Given the description of an element on the screen output the (x, y) to click on. 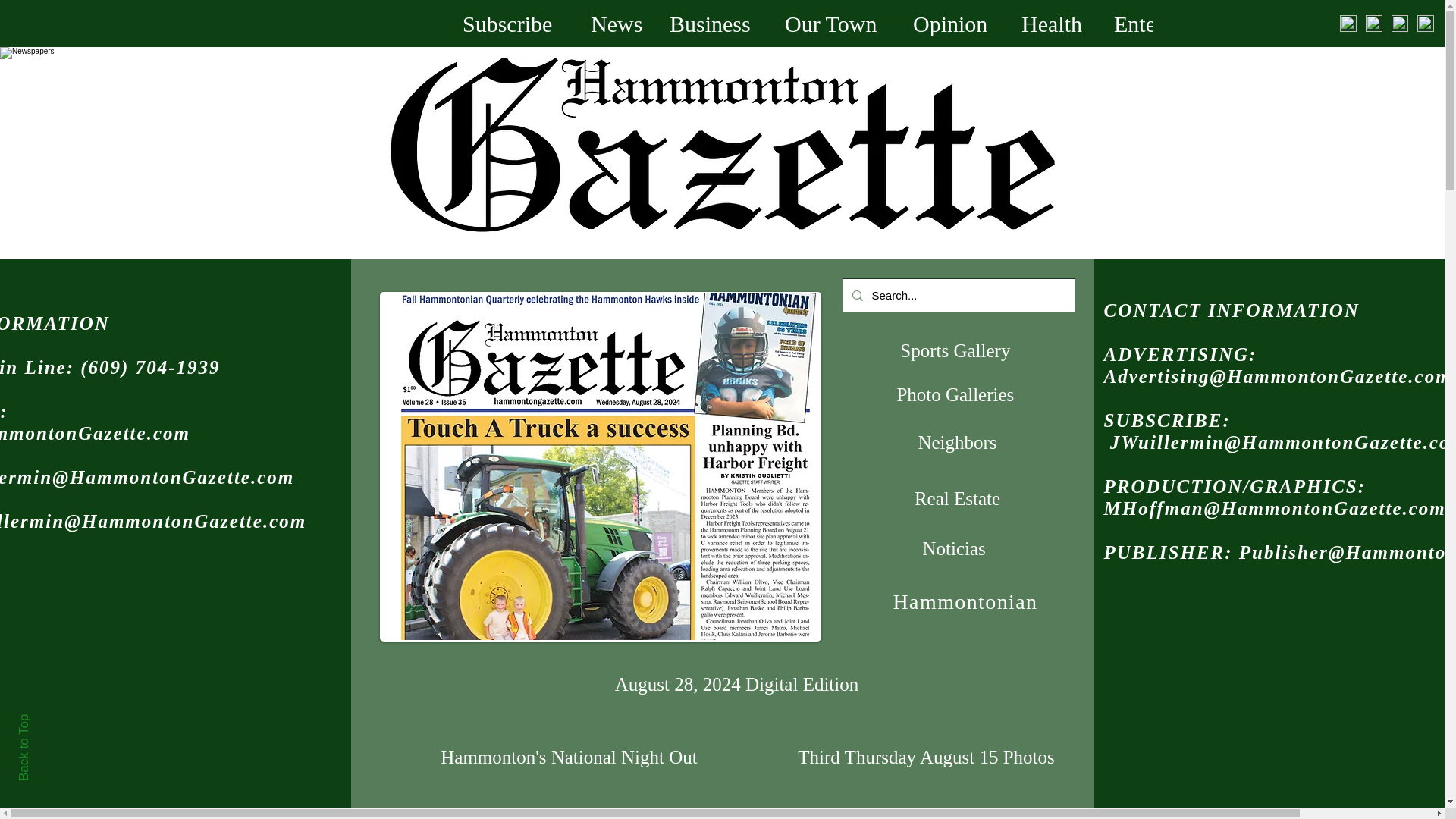
News (618, 23)
Sports (1324, 23)
Entertainment (1190, 23)
Our Town (837, 23)
Business (715, 23)
Opinion (955, 23)
Health (1056, 23)
Subscribe (515, 23)
